Given the description of an element on the screen output the (x, y) to click on. 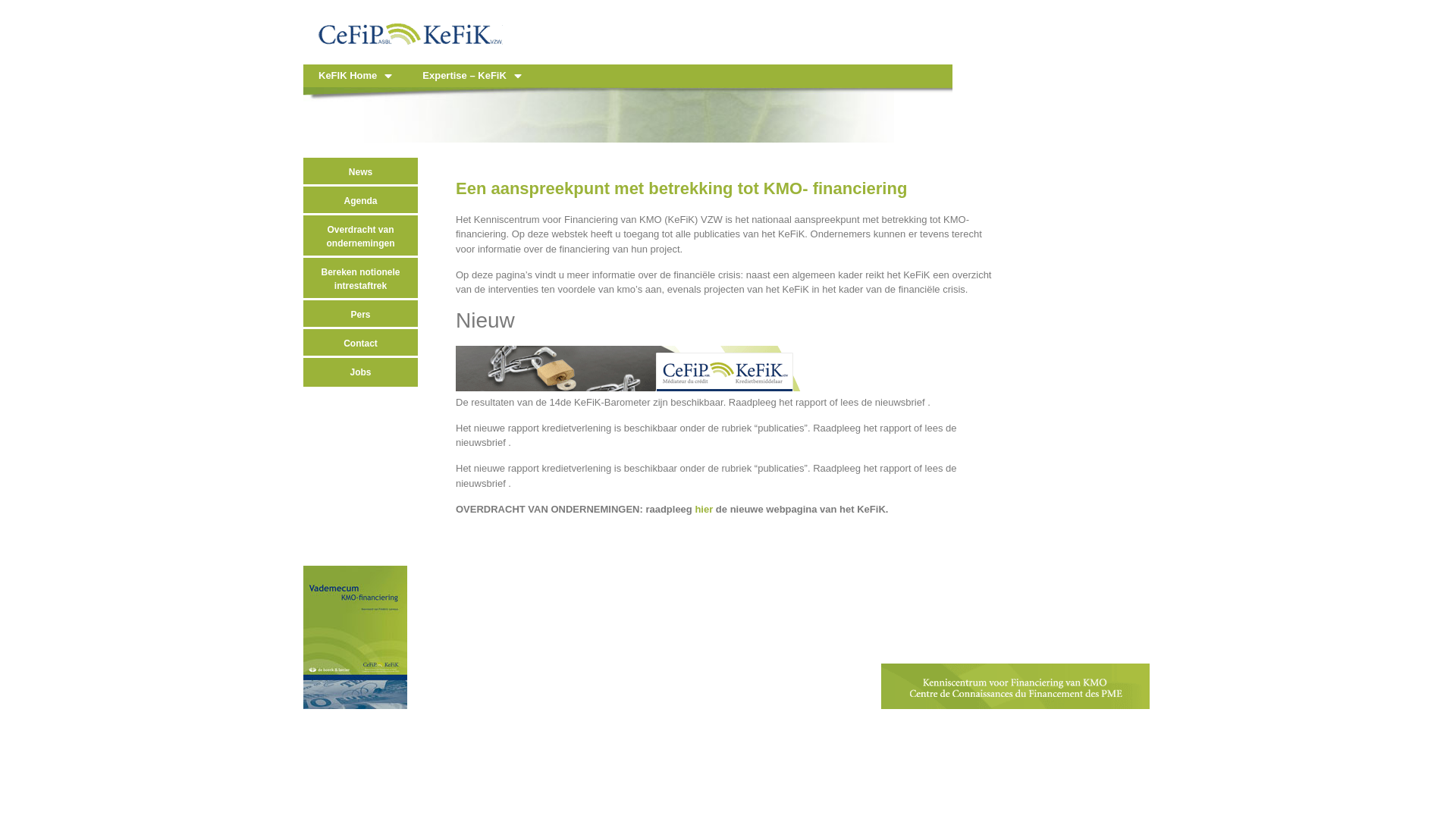
Pers Element type: text (360, 314)
Contact Element type: text (360, 343)
hier Element type: text (703, 508)
News Element type: text (360, 171)
KeFIK Home Element type: text (355, 75)
Jobs Element type: text (360, 372)
Agenda Element type: text (360, 200)
Overdracht van ondernemingen Element type: text (360, 236)
Bereken notionele intrestaftrek Element type: text (360, 278)
